Given the description of an element on the screen output the (x, y) to click on. 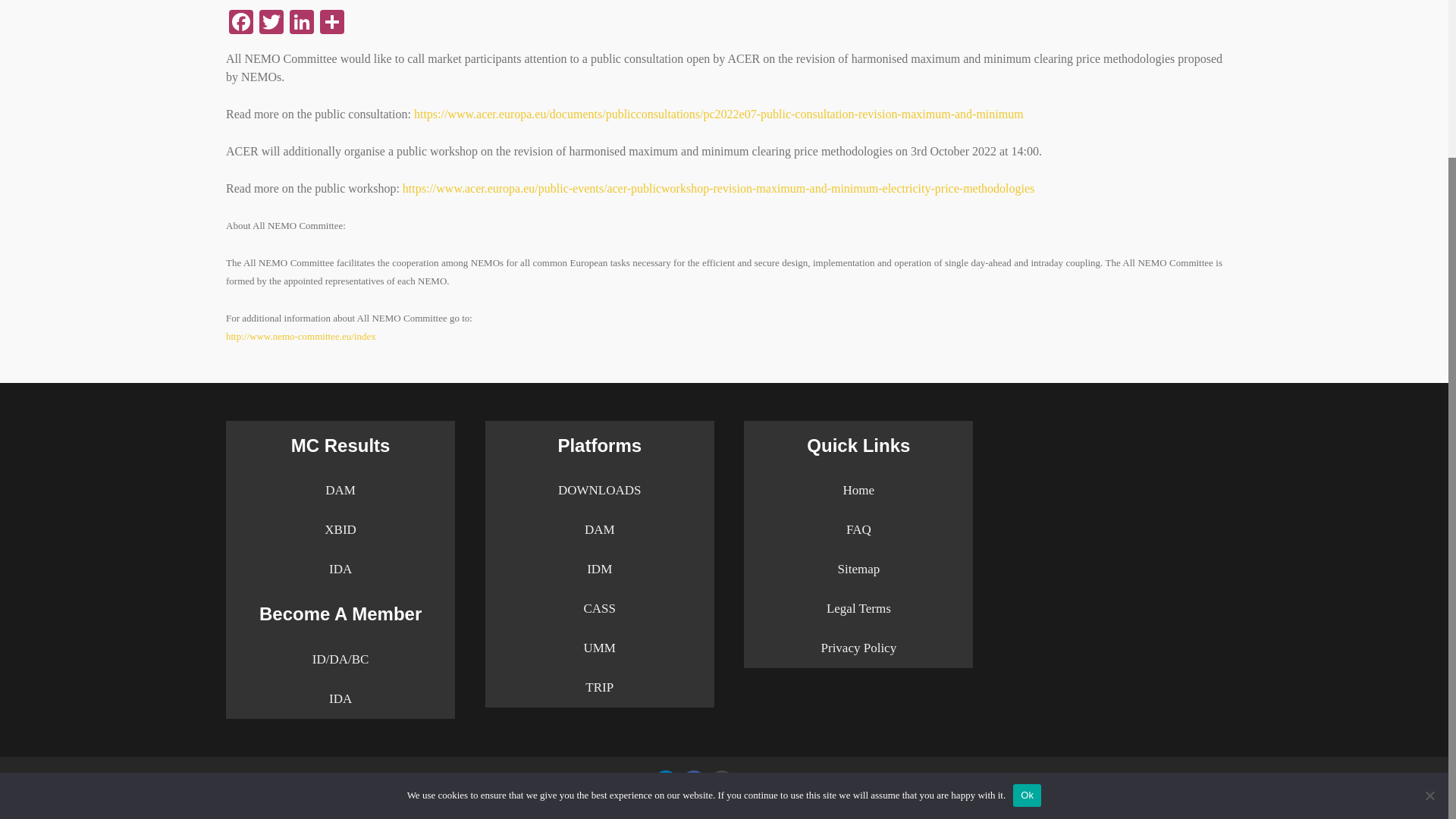
Twitter (271, 23)
Facebook (240, 23)
LinkedIn (301, 23)
